Given the description of an element on the screen output the (x, y) to click on. 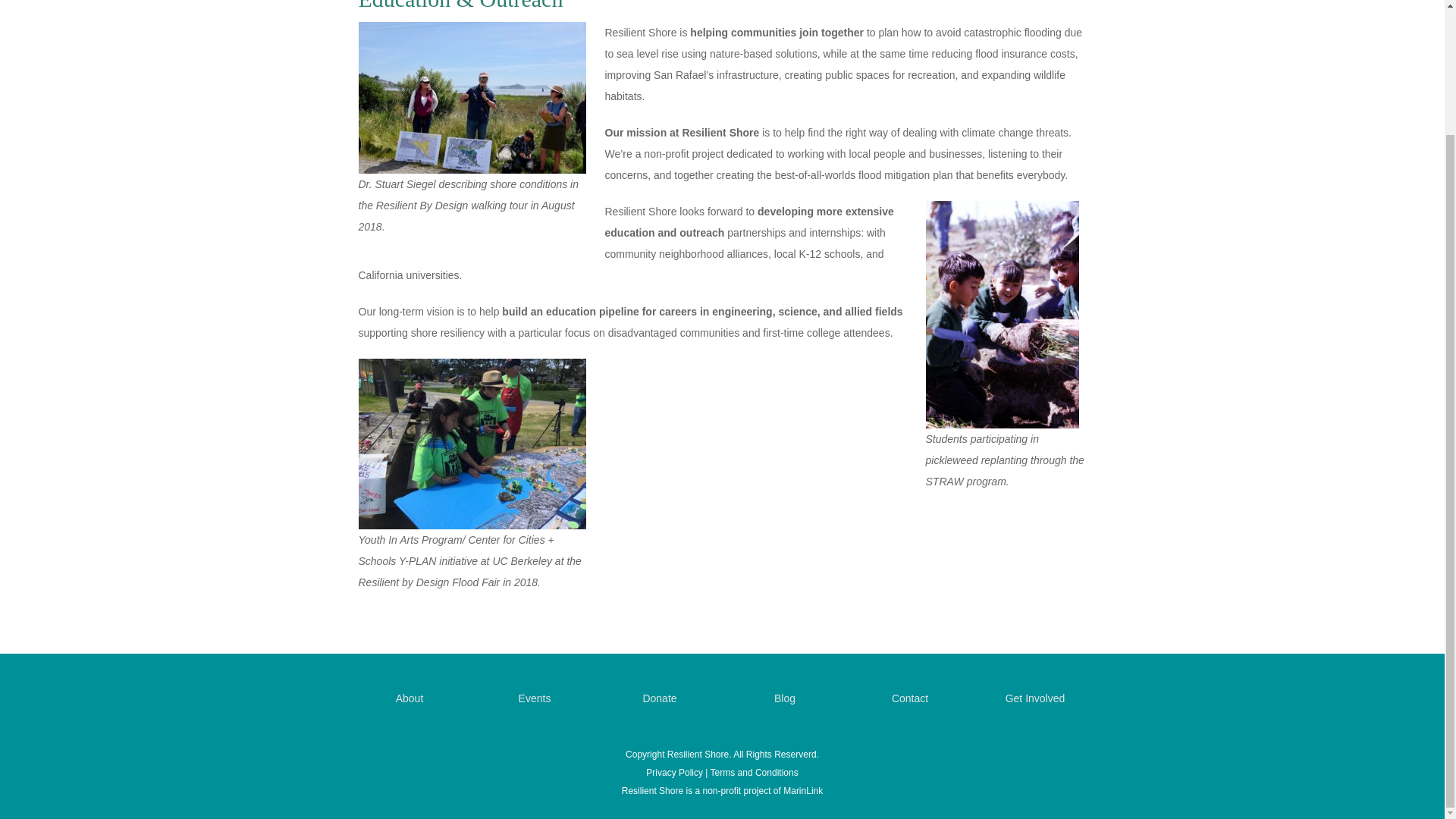
About (409, 698)
Blog (784, 698)
Events (534, 698)
Contact (909, 698)
Donate (659, 698)
